Given the description of an element on the screen output the (x, y) to click on. 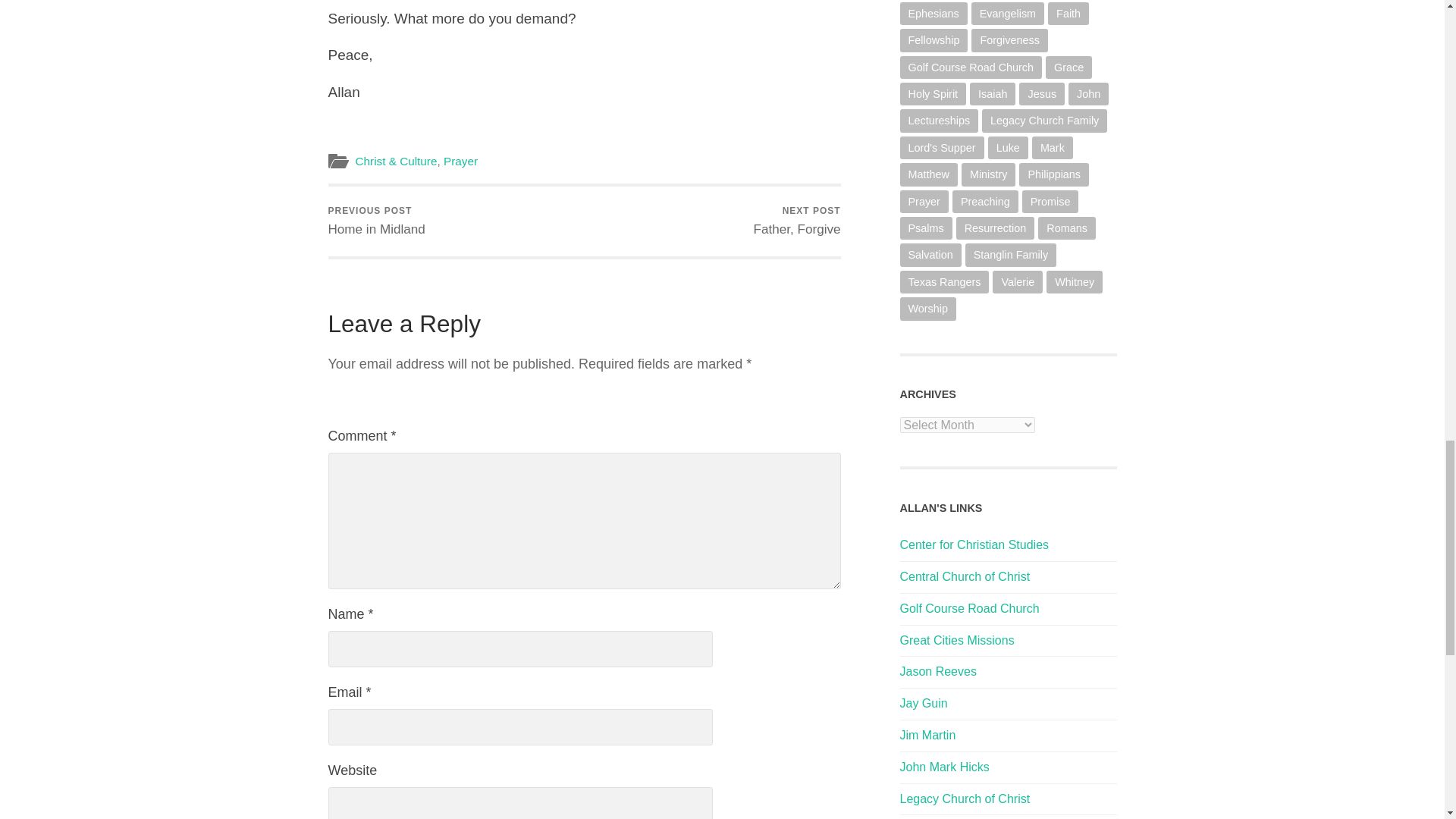
God Hungry (927, 735)
Legacy Church of Christ in North Richland Hills, Texas (964, 798)
GCR Church (969, 608)
Equipping and Encouraging Missionaries and Church Planters (956, 640)
John Mark Hicks Ministries (943, 766)
One in Jesus (376, 220)
Prayer (923, 703)
Central Church of Christ in Amarillo, Texas (460, 160)
